Given the description of an element on the screen output the (x, y) to click on. 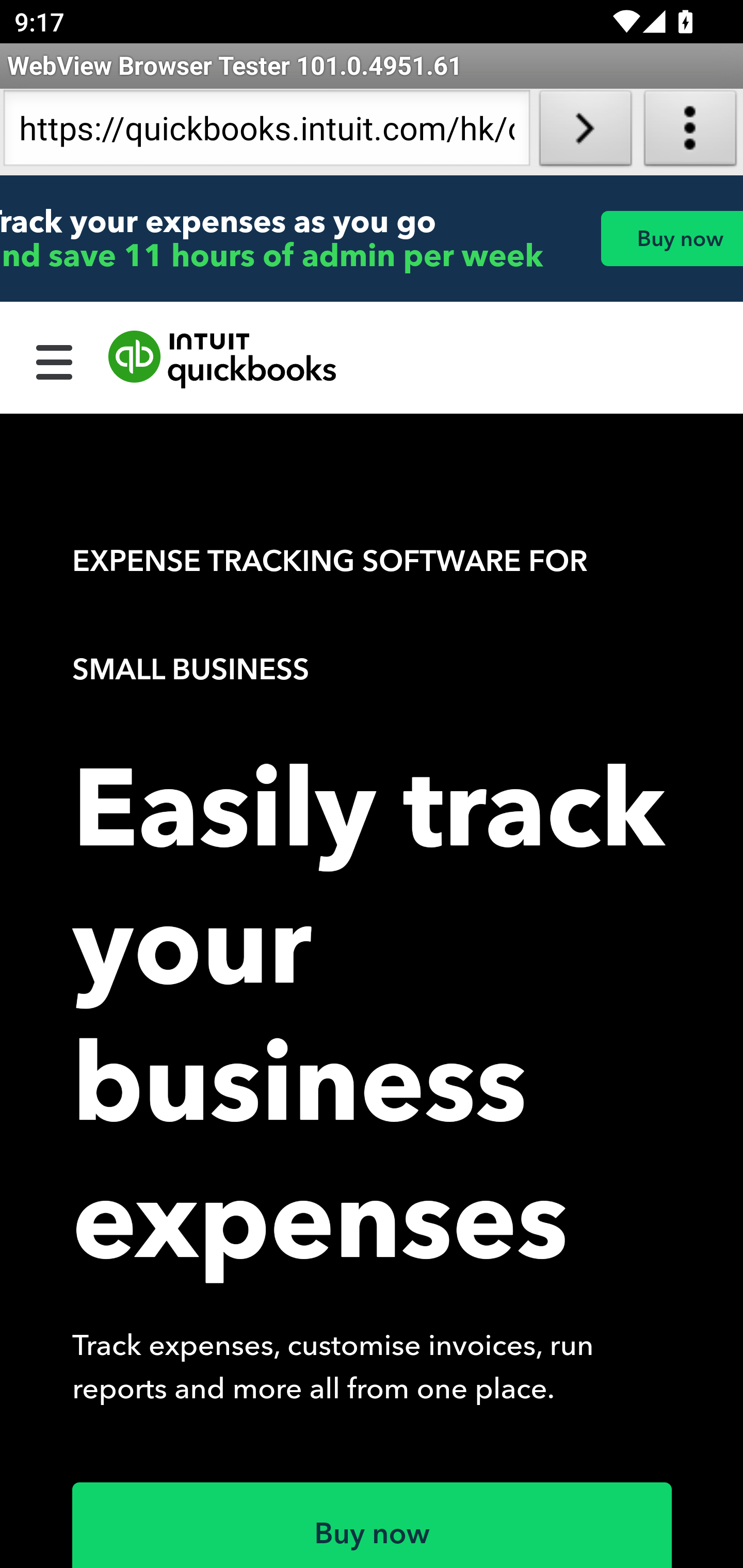
Load URL (585, 132)
About WebView (690, 132)
Buy now (671, 238)
quickbooks-mobile-burger (54, 359)
quickbooks (222, 359)
Buy now (372, 1524)
